Given the description of an element on the screen output the (x, y) to click on. 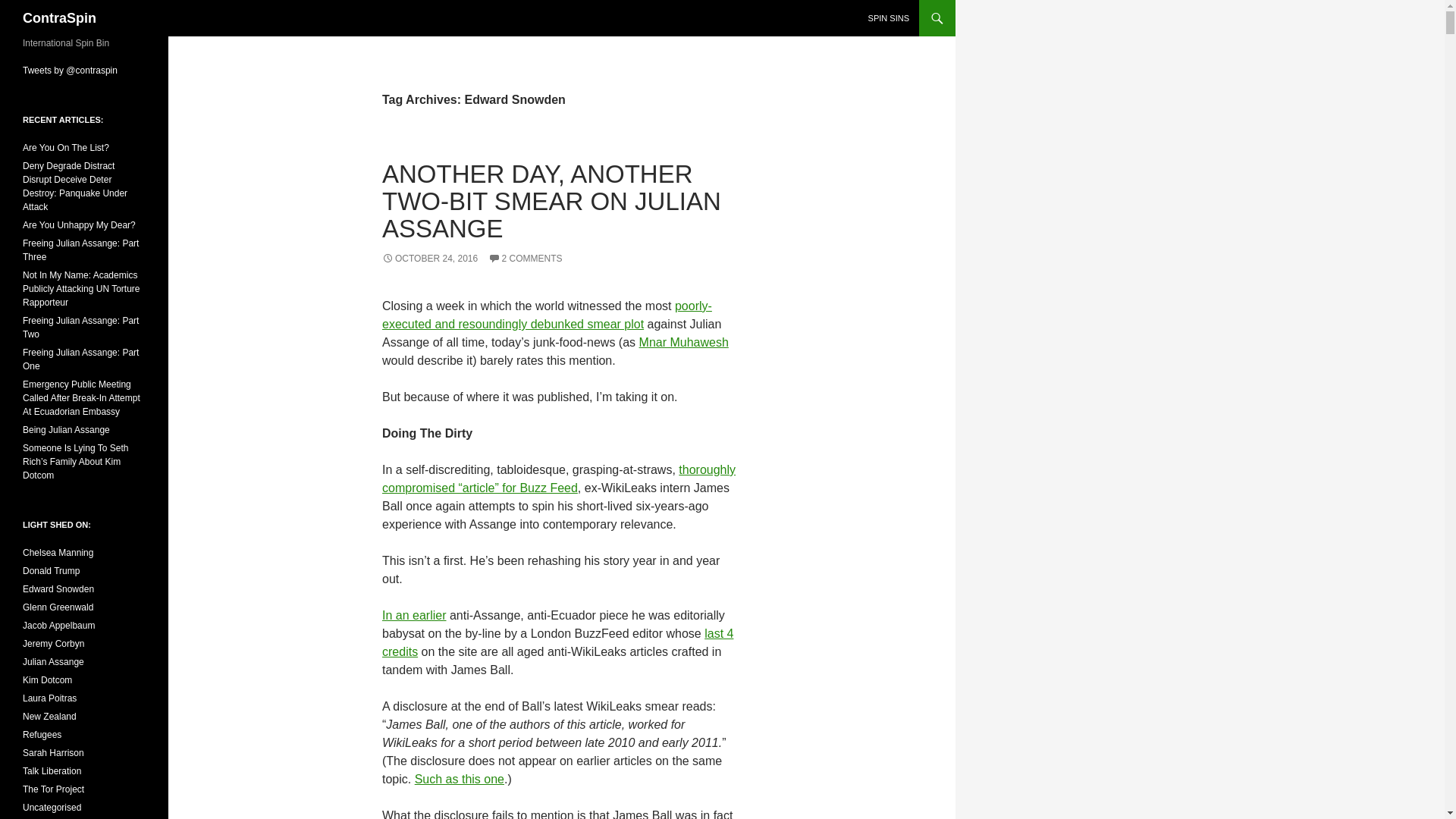
poorly-executed and resoundingly debunked smear plot (546, 314)
SPIN SINS (888, 18)
In an earlier (413, 615)
last 4 credits (557, 642)
OCTOBER 24, 2016 (429, 258)
Such as this one (458, 779)
2 COMMENTS (524, 258)
ANOTHER DAY, ANOTHER TWO-BIT SMEAR ON JULIAN ASSANGE (550, 200)
ContraSpin (59, 18)
Mnar Muhawesh (684, 341)
